Given the description of an element on the screen output the (x, y) to click on. 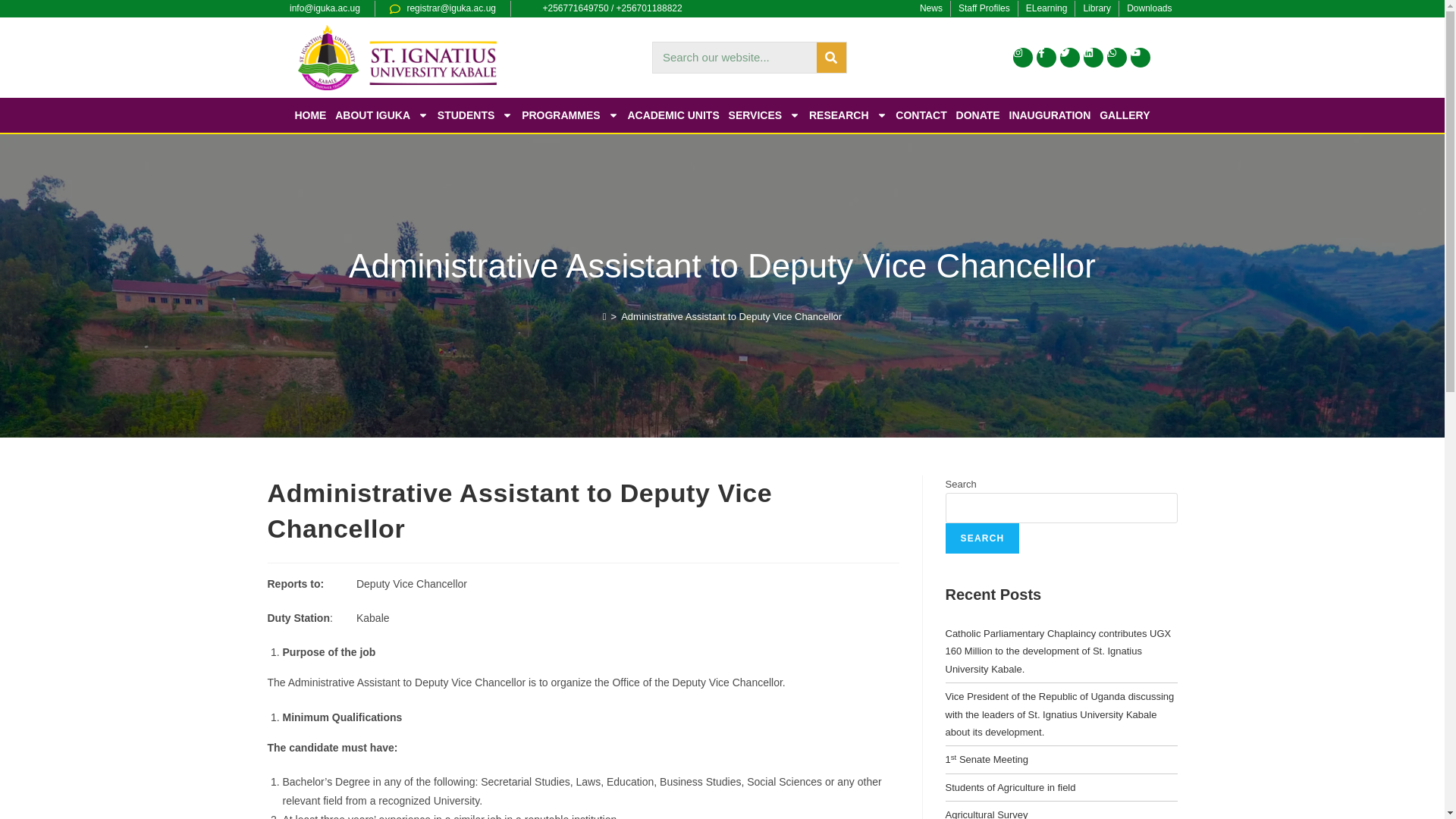
ABOUT IGUKA (381, 114)
STUDENTS (474, 114)
Staff Profiles (984, 8)
Library (1096, 8)
News (931, 8)
HOME (309, 114)
Downloads (1149, 8)
PROGRAMMES (569, 114)
ELearning (1046, 8)
